Given the description of an element on the screen output the (x, y) to click on. 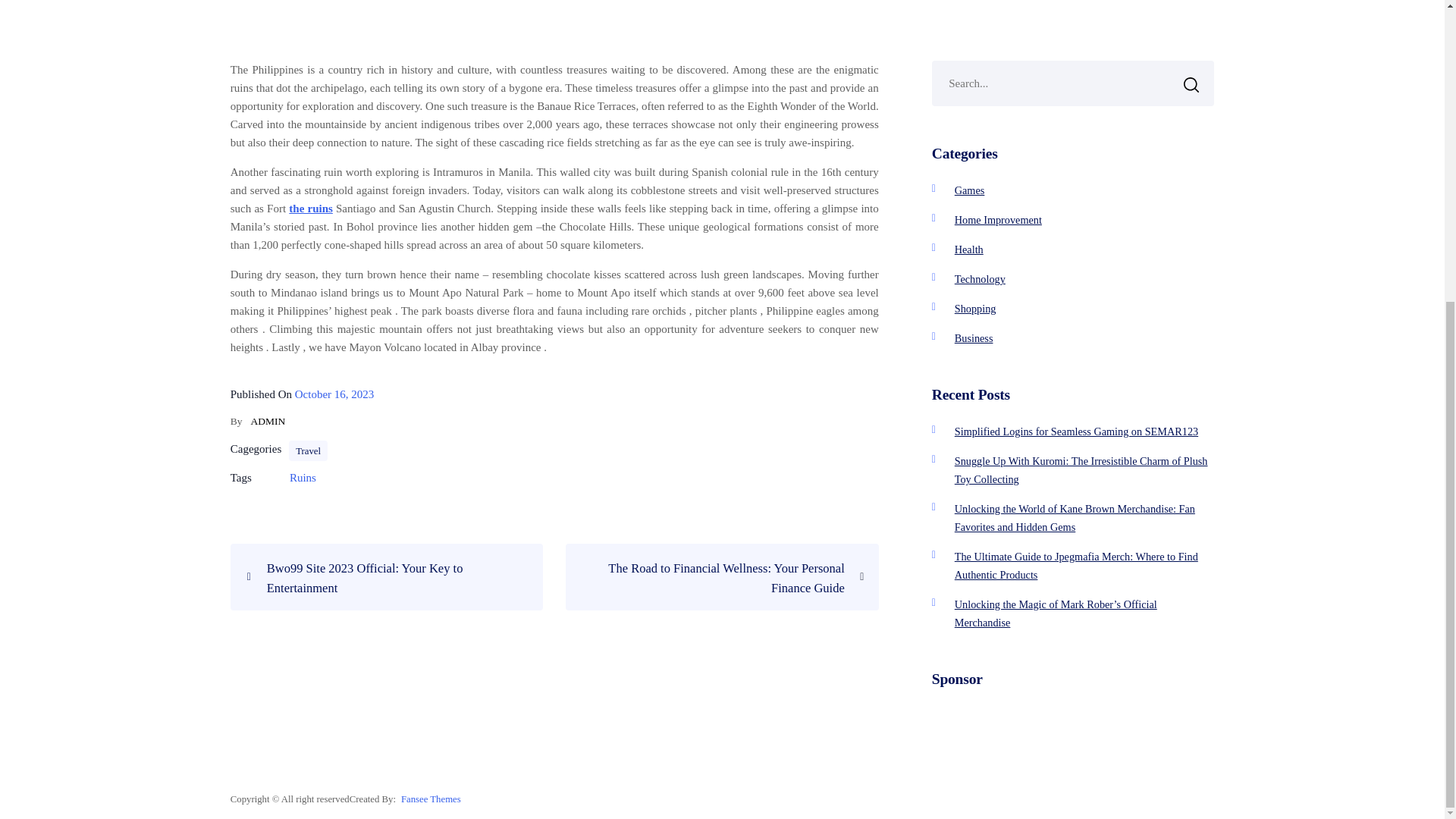
ADMIN (267, 420)
Ruins (302, 477)
Shopping (975, 308)
Technology (980, 278)
Business (973, 337)
October 16, 2023 (334, 394)
Travel (307, 450)
Simplified Logins for Seamless Gaming on SEMAR123 (1076, 431)
